Given the description of an element on the screen output the (x, y) to click on. 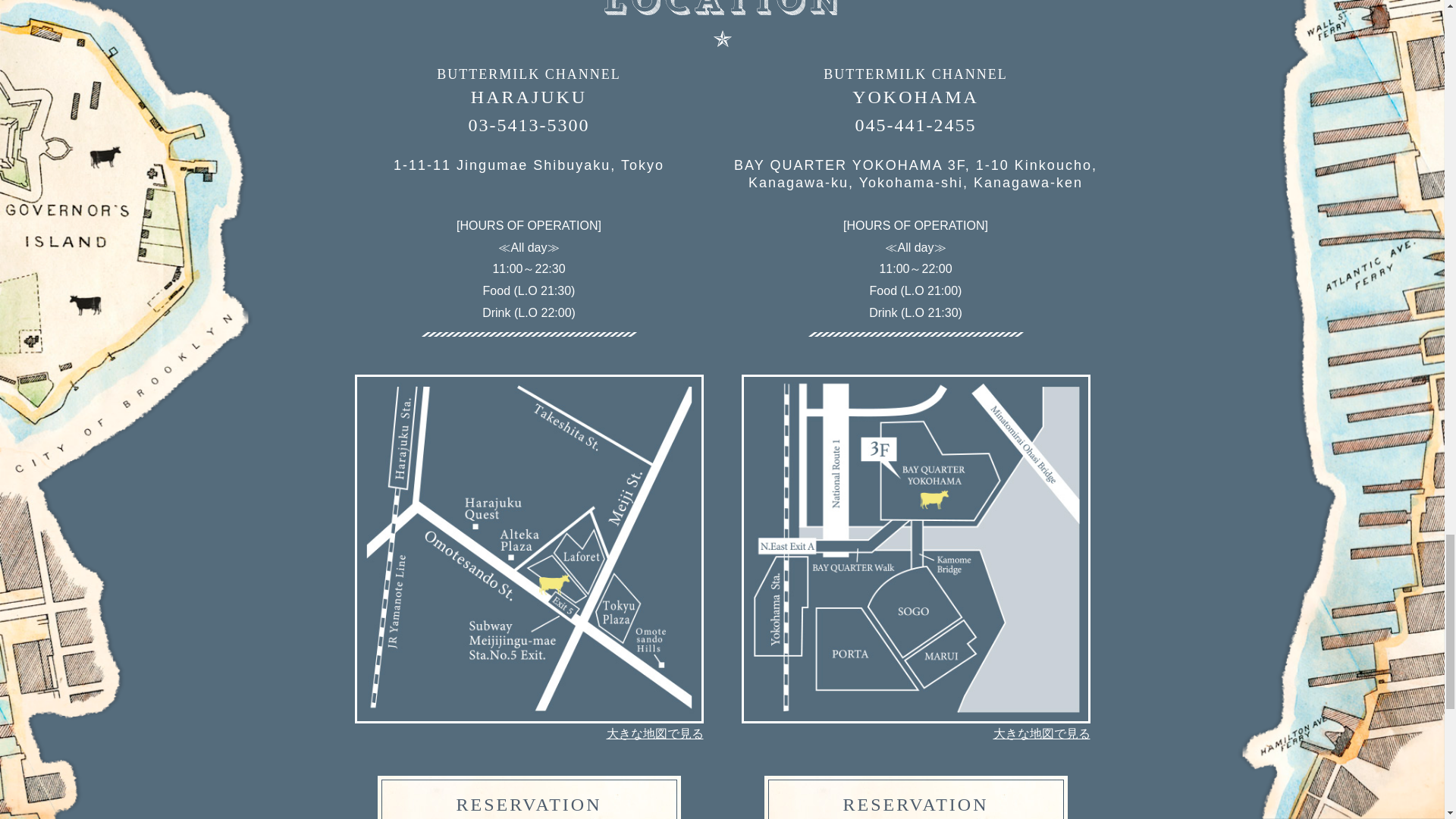
045-441-2455 (914, 125)
03-5413-5300 (915, 797)
